Given the description of an element on the screen output the (x, y) to click on. 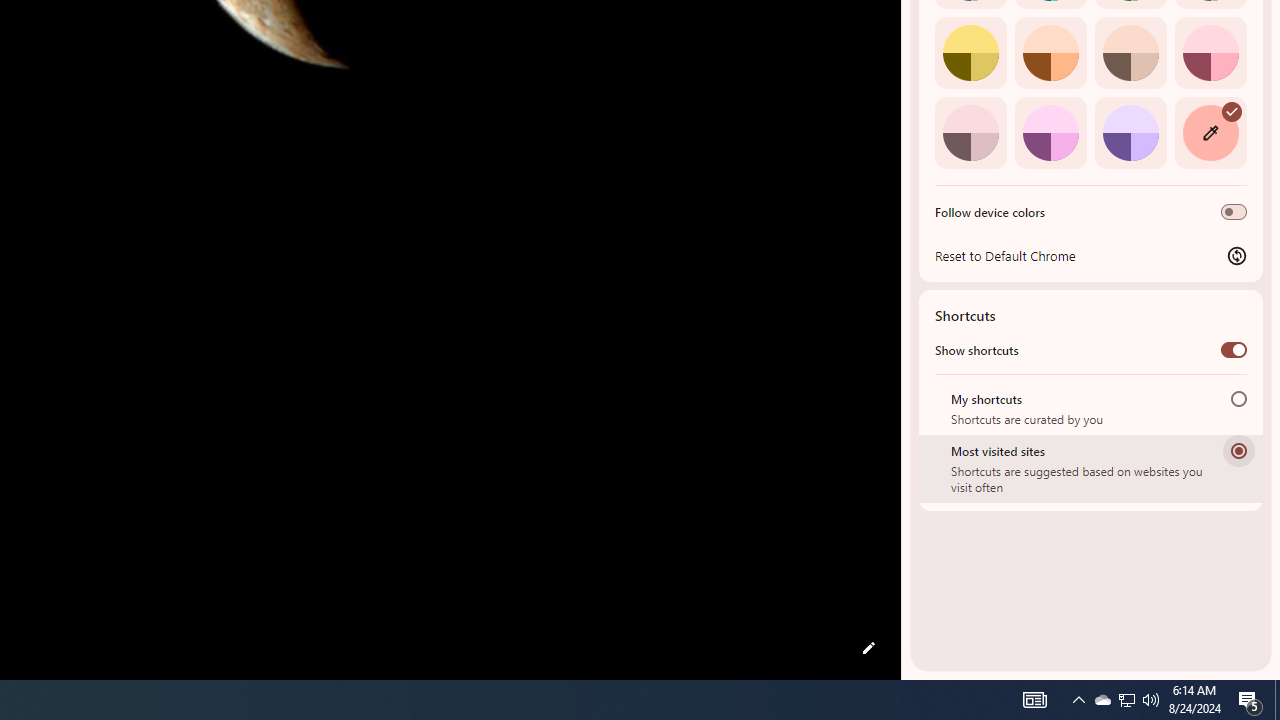
Apricot (1130, 52)
Side Panel Resize Handle (905, 39)
Citron (970, 52)
Most visited sites (1238, 450)
Reset to Default Chrome (1091, 255)
Orange (1050, 52)
Customize this page (868, 647)
Violet (1130, 132)
Rose (1210, 52)
Fuchsia (1050, 132)
My shortcuts (1238, 398)
Follow device colors (1233, 211)
AutomationID: svg (1231, 110)
Pink (970, 132)
